Given the description of an element on the screen output the (x, y) to click on. 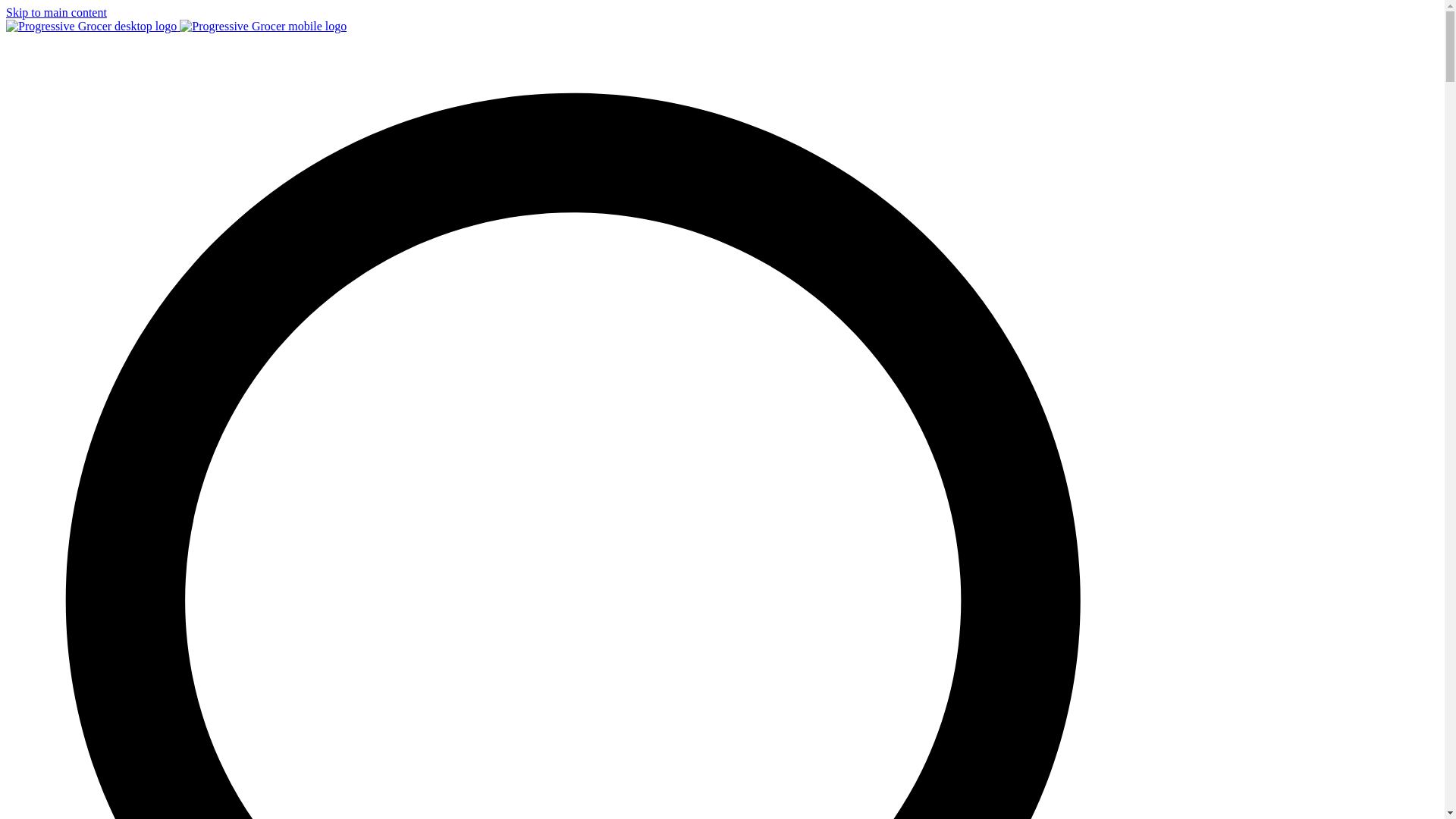
Skip to main content (55, 11)
